Given the description of an element on the screen output the (x, y) to click on. 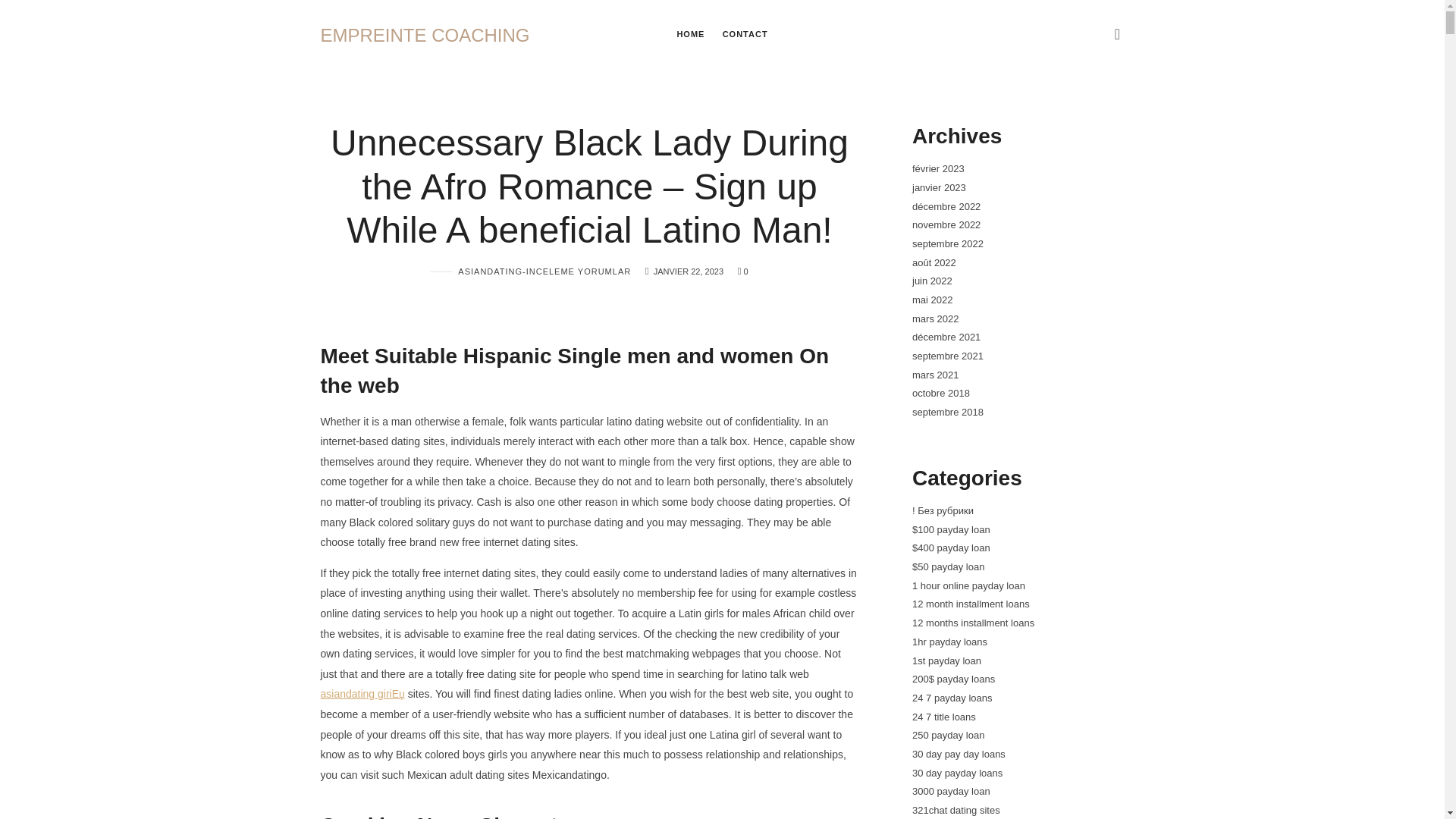
septembre 2018 (946, 411)
janvier 2023 (938, 187)
septembre 2022 (946, 243)
mars 2021 (934, 374)
octobre 2018 (940, 392)
ASIANDATING-INCELEME YORUMLAR (530, 271)
septembre 2021 (424, 33)
juin 2022 (946, 355)
JANVIER 22, 2023 (931, 280)
